Given the description of an element on the screen output the (x, y) to click on. 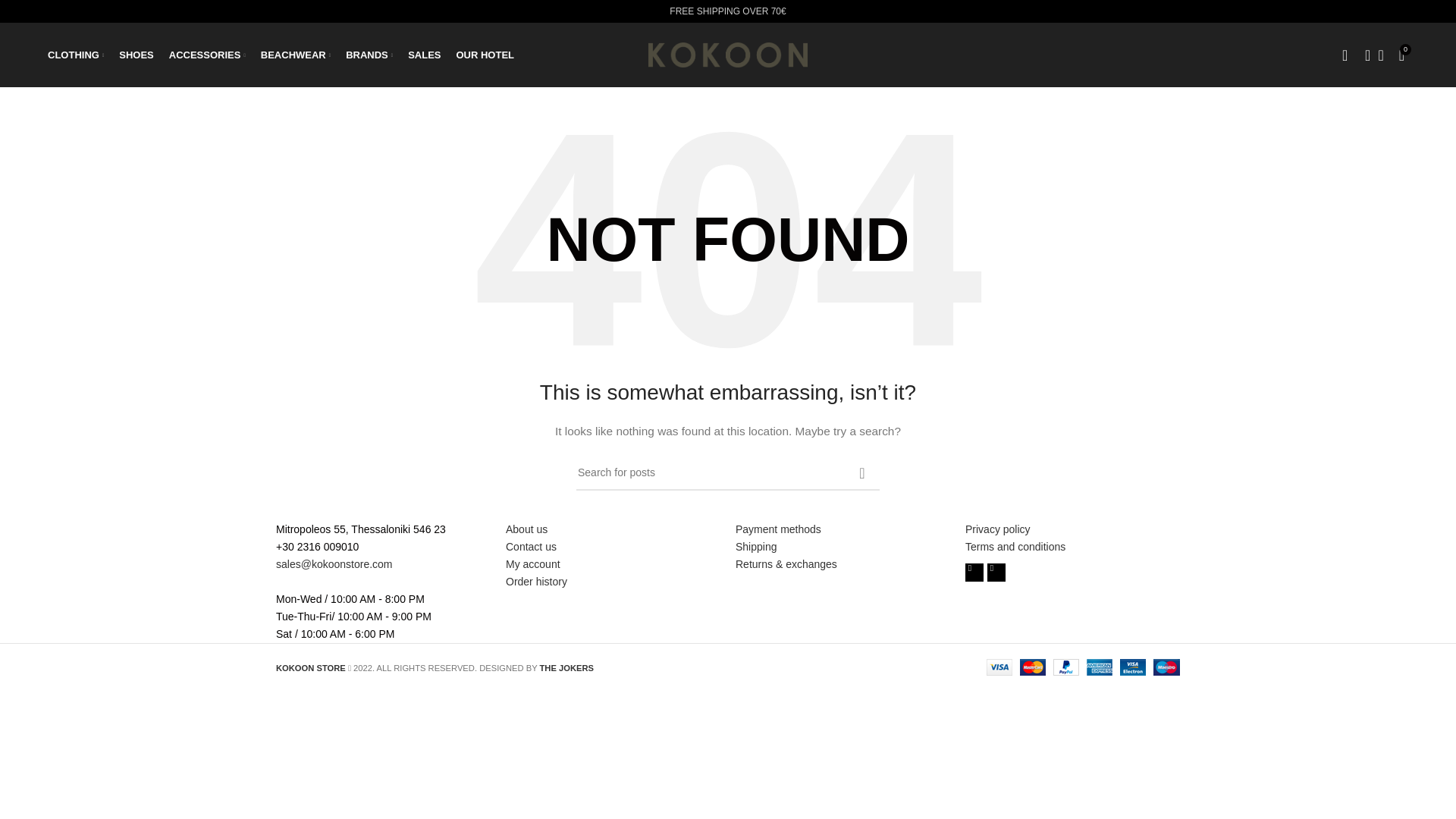
Search for posts (727, 472)
CLOTHING (75, 54)
BEACHWEAR (295, 54)
SHOES (136, 54)
ACCESSORIES (207, 54)
BRANDS (369, 54)
